Given the description of an element on the screen output the (x, y) to click on. 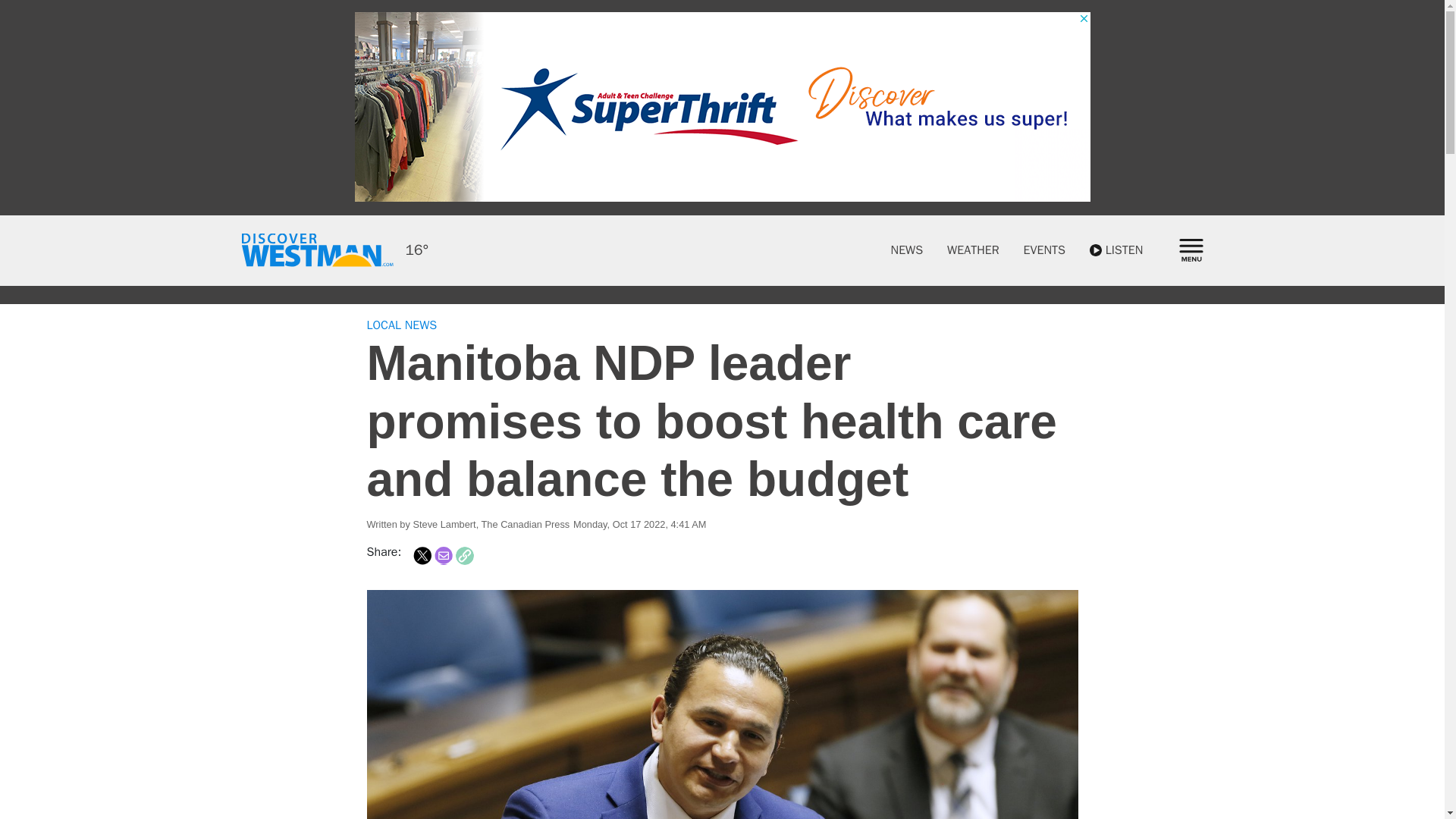
Share to Email (442, 556)
Copy Link (464, 556)
